Given the description of an element on the screen output the (x, y) to click on. 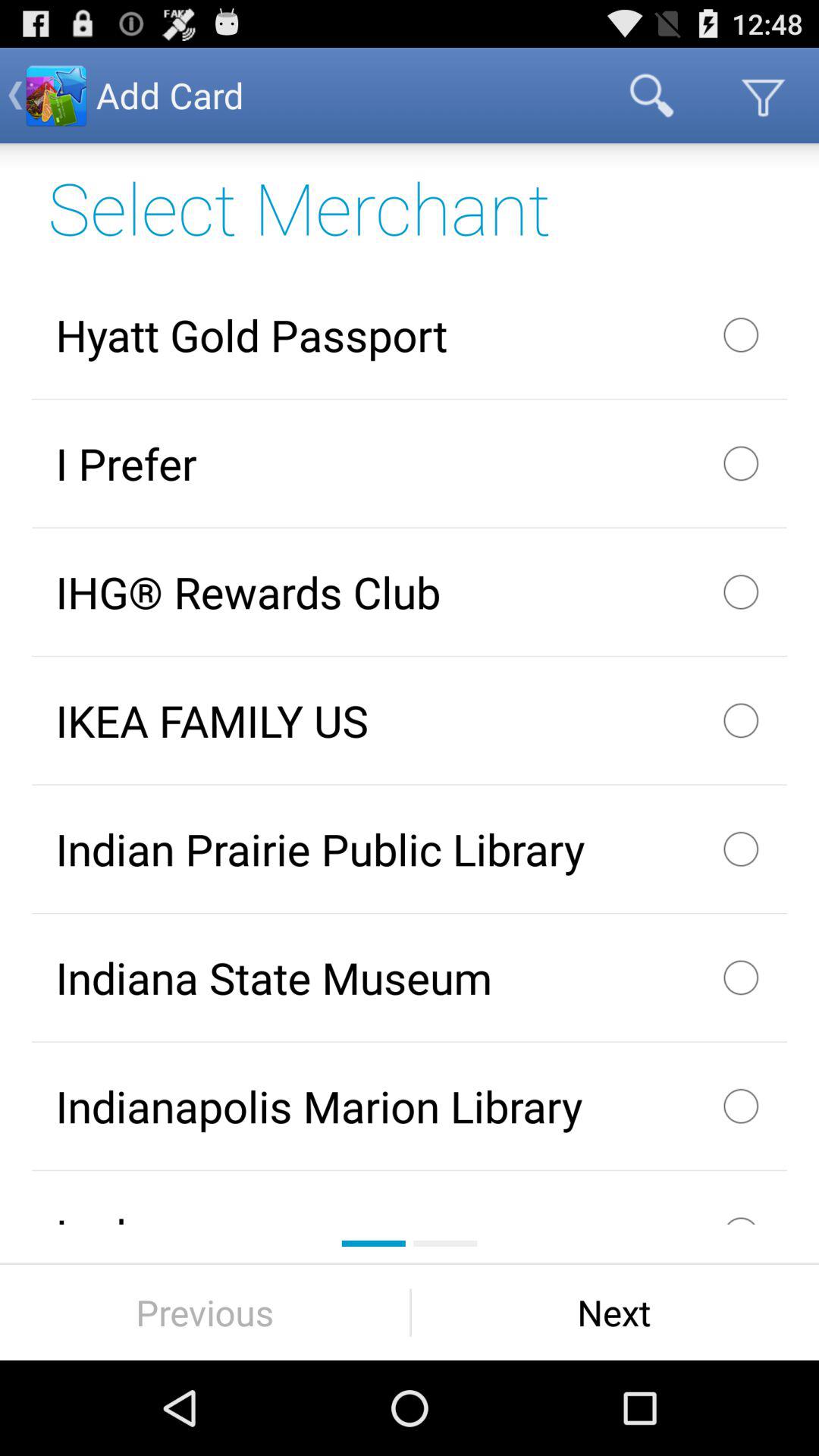
swipe to the indianapolis marion library icon (409, 1105)
